Given the description of an element on the screen output the (x, y) to click on. 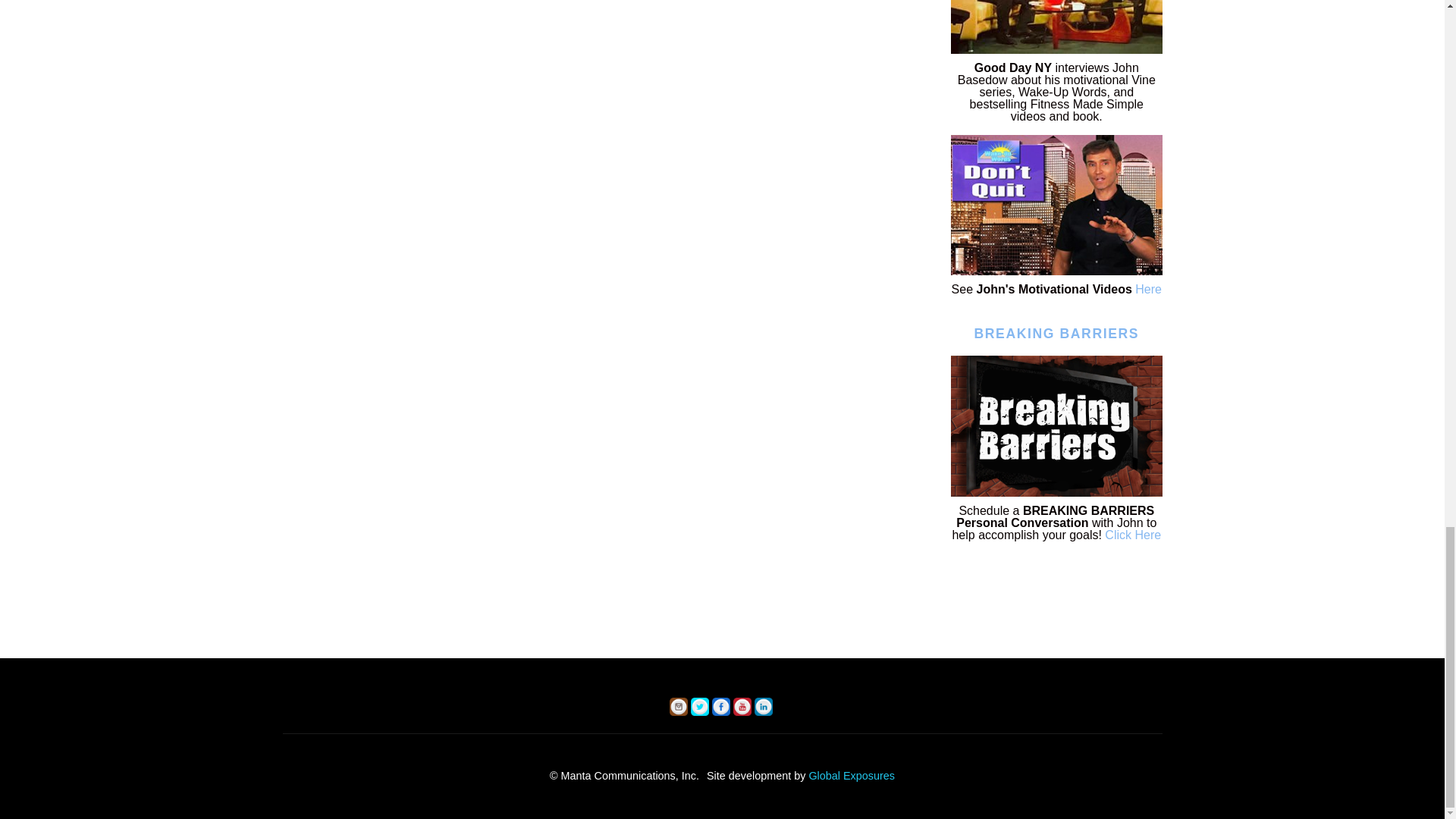
Global Exposures (851, 775)
Click Here (1132, 534)
Here (1148, 288)
